Given the description of an element on the screen output the (x, y) to click on. 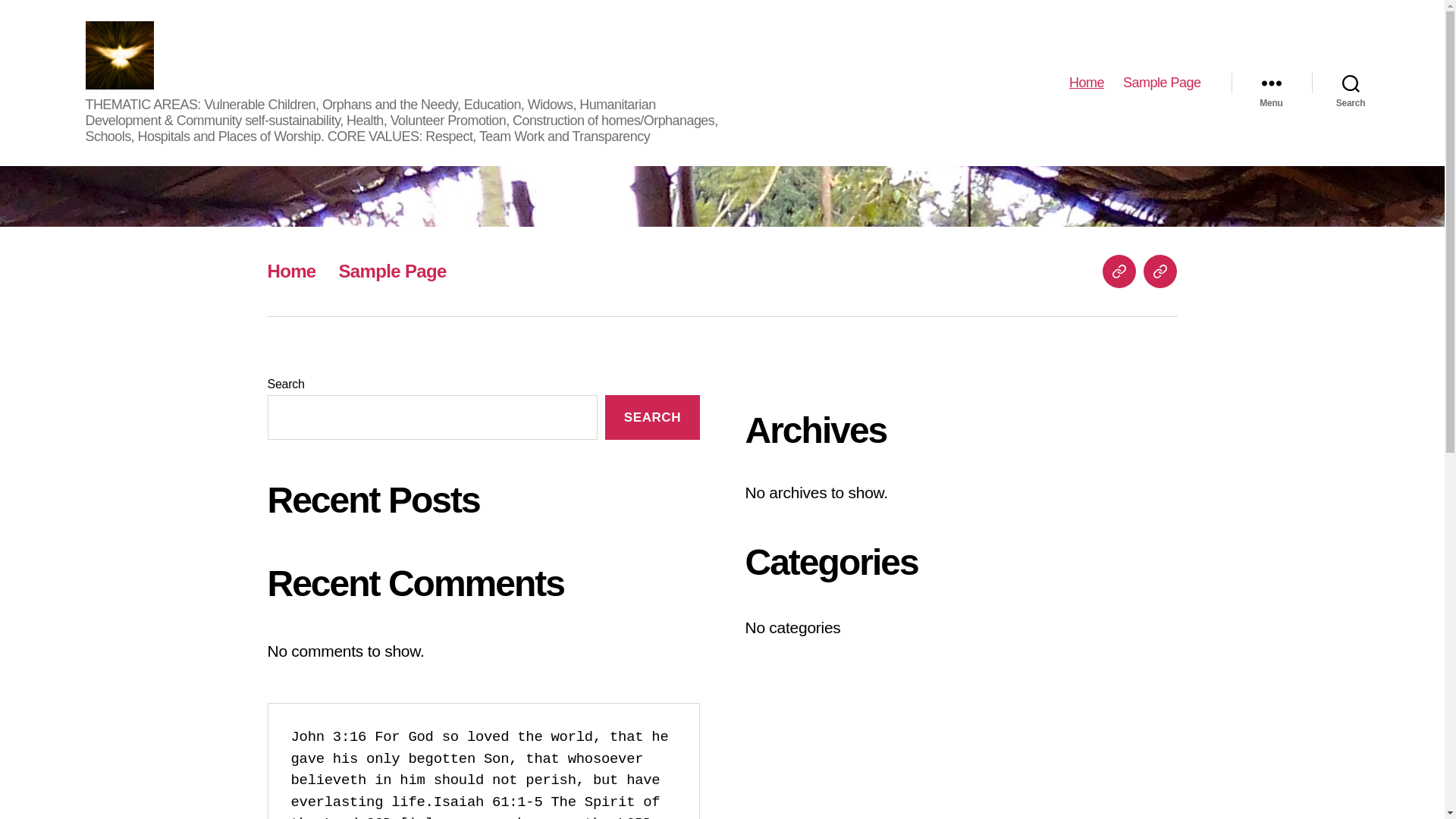
Home Element type: text (1086, 83)
Sample Page Element type: text (1159, 271)
SEARCH Element type: text (652, 417)
Sample Page Element type: text (392, 270)
Sample Page Element type: text (1162, 83)
Home Element type: text (1118, 271)
Menu Element type: text (1271, 83)
Search Element type: text (1350, 83)
Home Element type: text (290, 270)
